Given the description of an element on the screen output the (x, y) to click on. 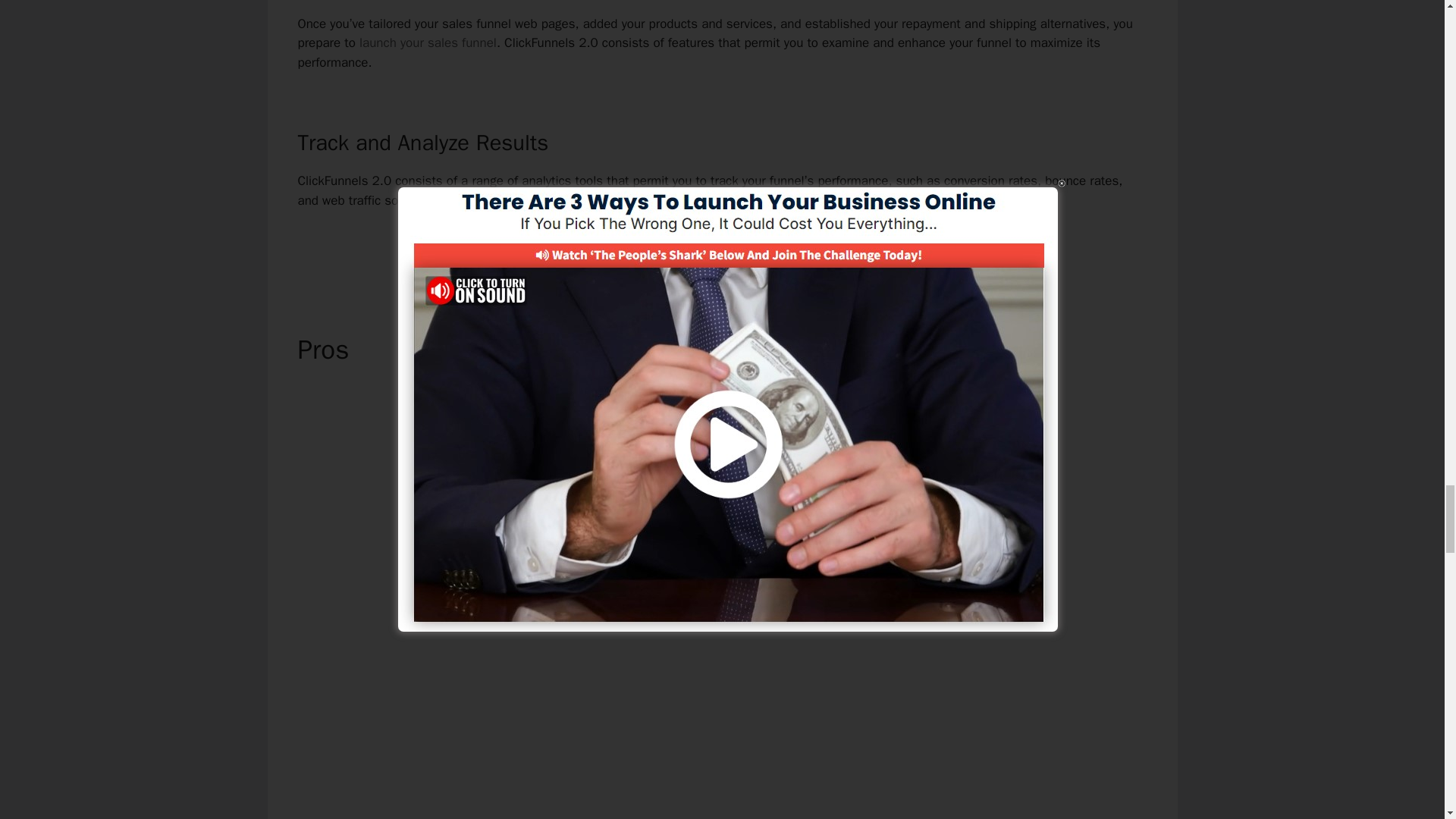
launch your sales funnel (427, 42)
Click Here To Launch Your First Funnel Today (722, 252)
